Given the description of an element on the screen output the (x, y) to click on. 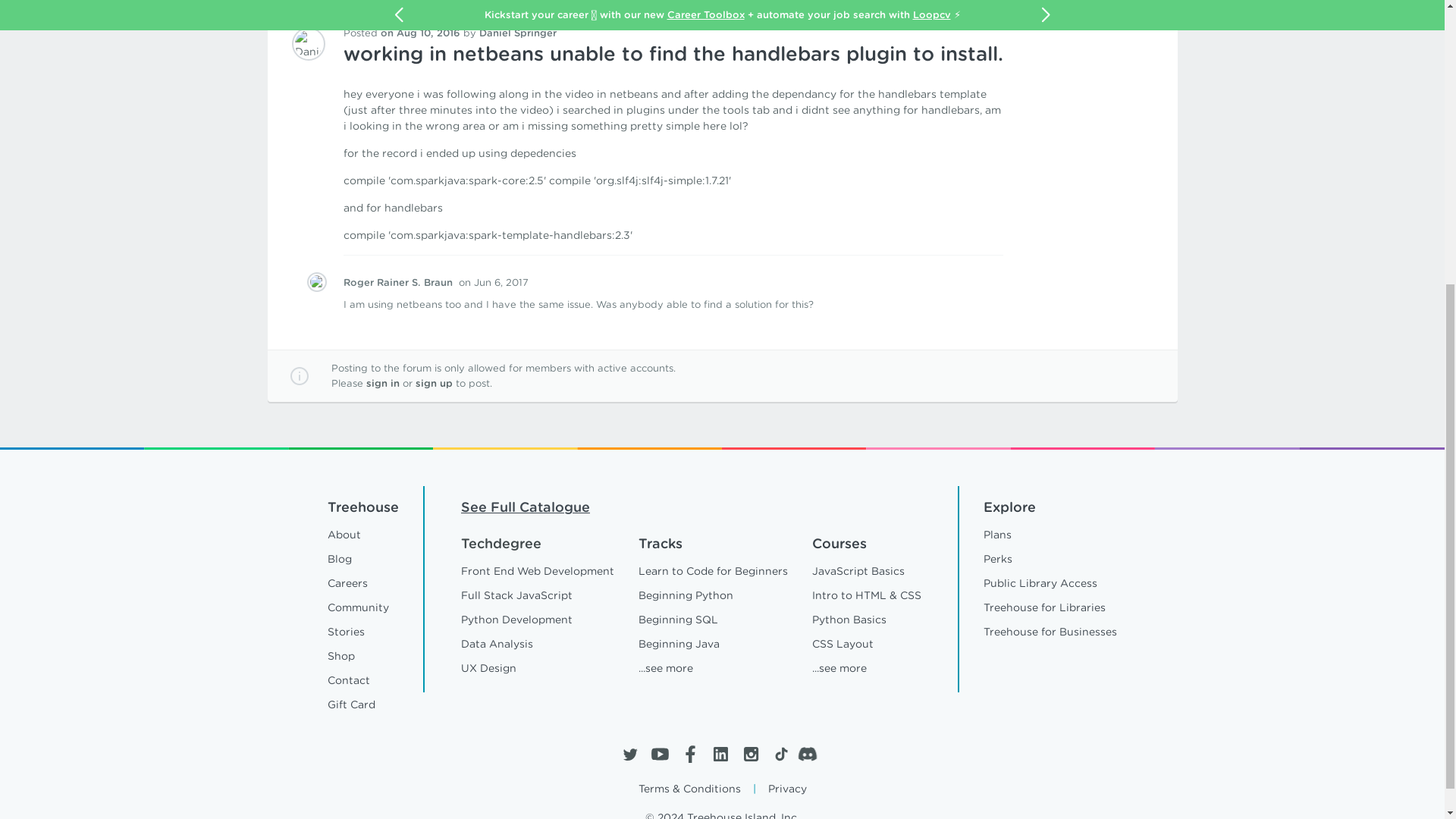
YouTube (659, 754)
Facebook (690, 754)
Instagram (749, 754)
LinkedIn (719, 754)
Facebook (690, 754)
TikTok (780, 754)
Instagram (749, 754)
Twitter (628, 754)
YouTube (659, 754)
June 6, 2017 at 8:00pm CST (492, 282)
August 10, 2016 at 4:38pm CST (420, 32)
Twitter (628, 754)
LinkedIn (719, 754)
Discord (810, 754)
